Given the description of an element on the screen output the (x, y) to click on. 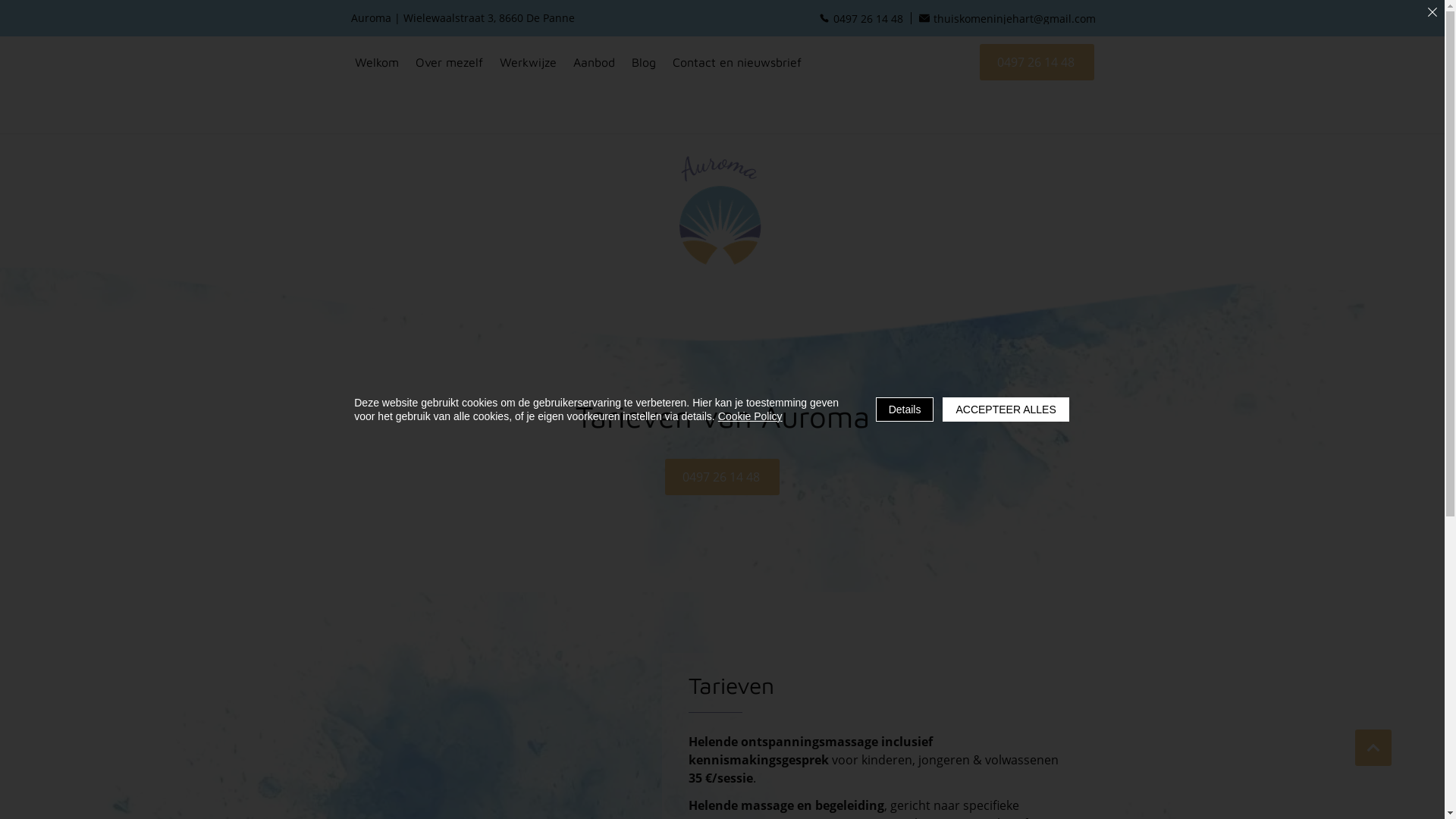
0497 26 14 48 Element type: text (1036, 61)
Werkwijze Element type: text (527, 62)
Aanbod Element type: text (593, 62)
Contact en nieuwsbrief Element type: text (736, 62)
0497 26 14 48 Element type: text (857, 18)
Blog Element type: text (643, 62)
Over mezelf Element type: text (448, 62)
thuiskomeninjehart@gmail.com Element type: text (1003, 18)
ACCEPTEER ALLES Element type: text (1005, 409)
0497 26 14 48 Element type: text (721, 476)
Welkom Element type: text (375, 62)
Details Element type: text (904, 409)
Cookie Policy Element type: text (750, 416)
